Given the description of an element on the screen output the (x, y) to click on. 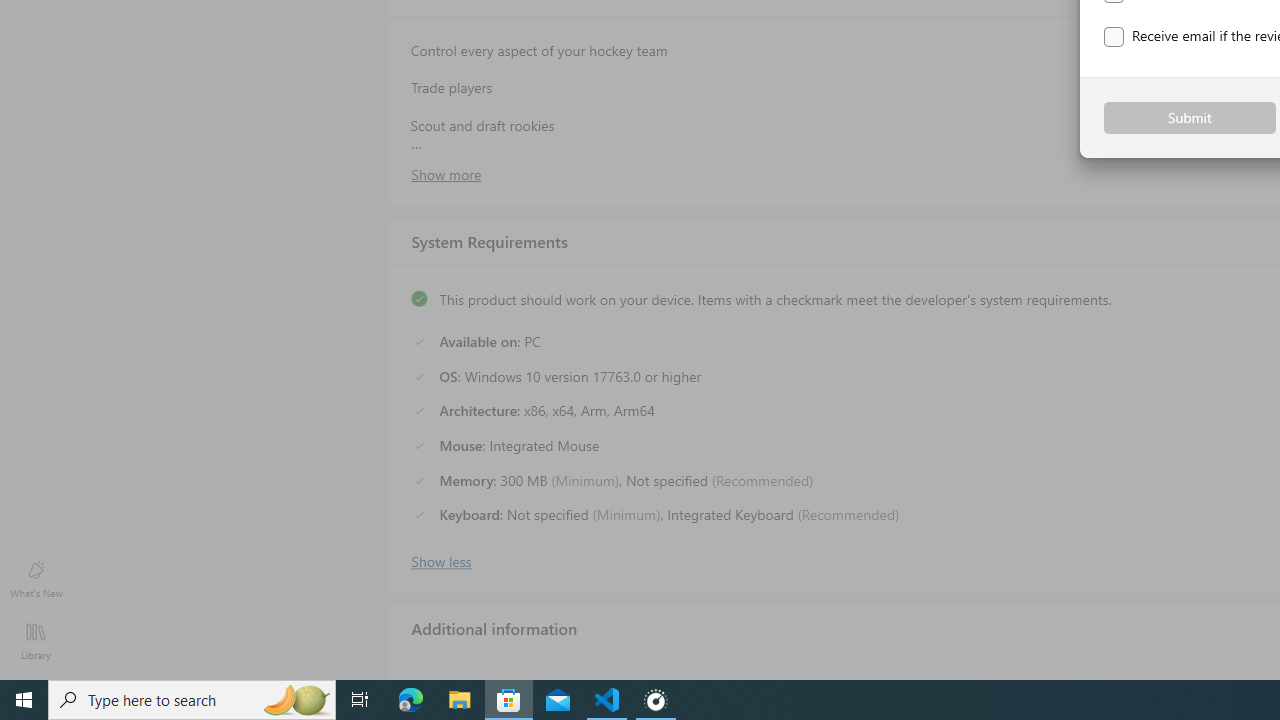
Show more (445, 173)
Show less (440, 559)
Submit (1189, 117)
